Given the description of an element on the screen output the (x, y) to click on. 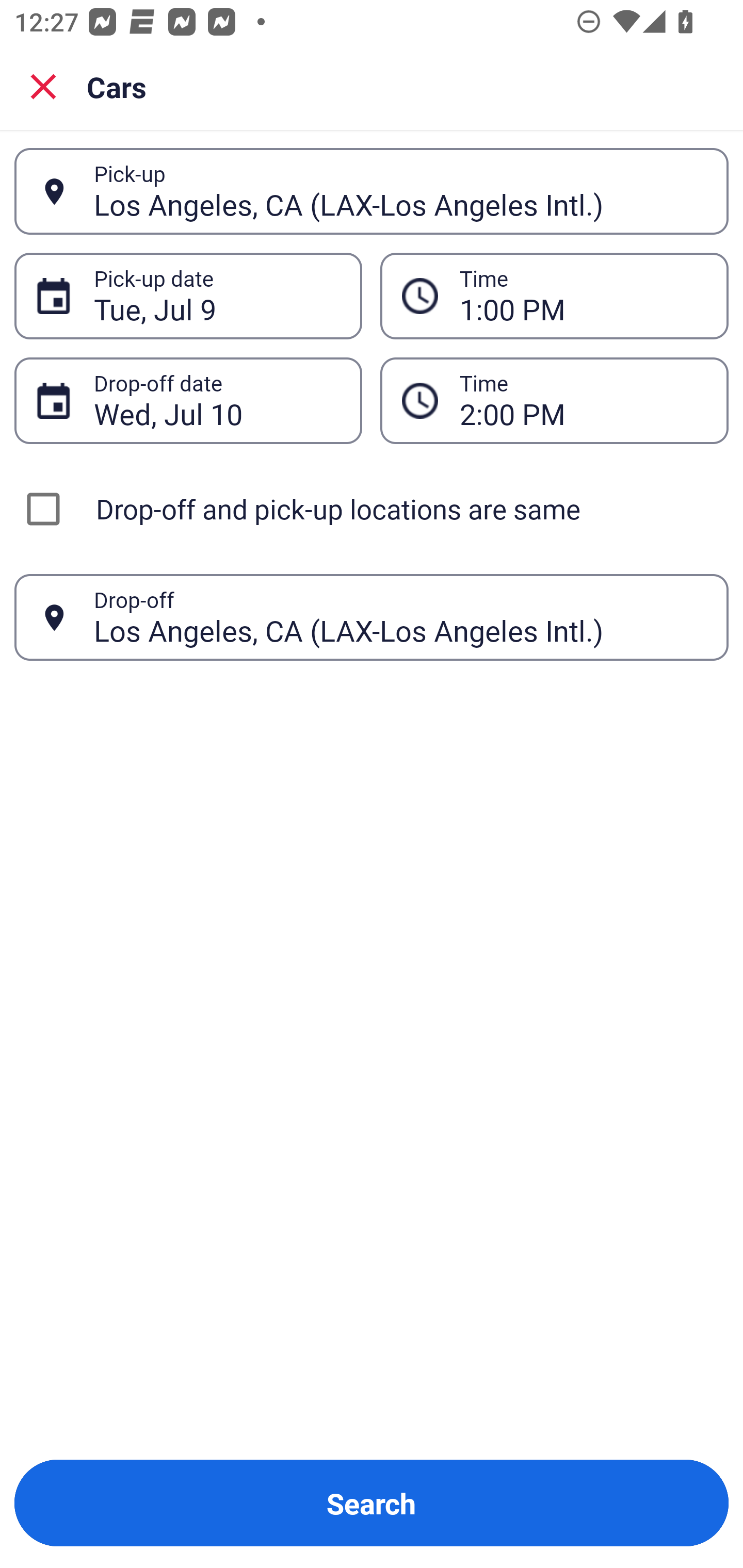
Close search screen (43, 86)
Los Angeles, CA (LAX-Los Angeles Intl.) Pick-up (371, 191)
Los Angeles, CA (LAX-Los Angeles Intl.) (399, 191)
Tue, Jul 9 Pick-up date (188, 295)
1:00 PM (554, 295)
Tue, Jul 9 (216, 296)
1:00 PM (582, 296)
Wed, Jul 10 Drop-off date (188, 400)
2:00 PM (554, 400)
Wed, Jul 10 (216, 400)
2:00 PM (582, 400)
Drop-off and pick-up locations are same (371, 508)
Los Angeles, CA (LAX-Los Angeles Intl.) Drop-off (371, 616)
Los Angeles, CA (LAX-Los Angeles Intl.) (399, 616)
Search Button Search (371, 1502)
